Given the description of an element on the screen output the (x, y) to click on. 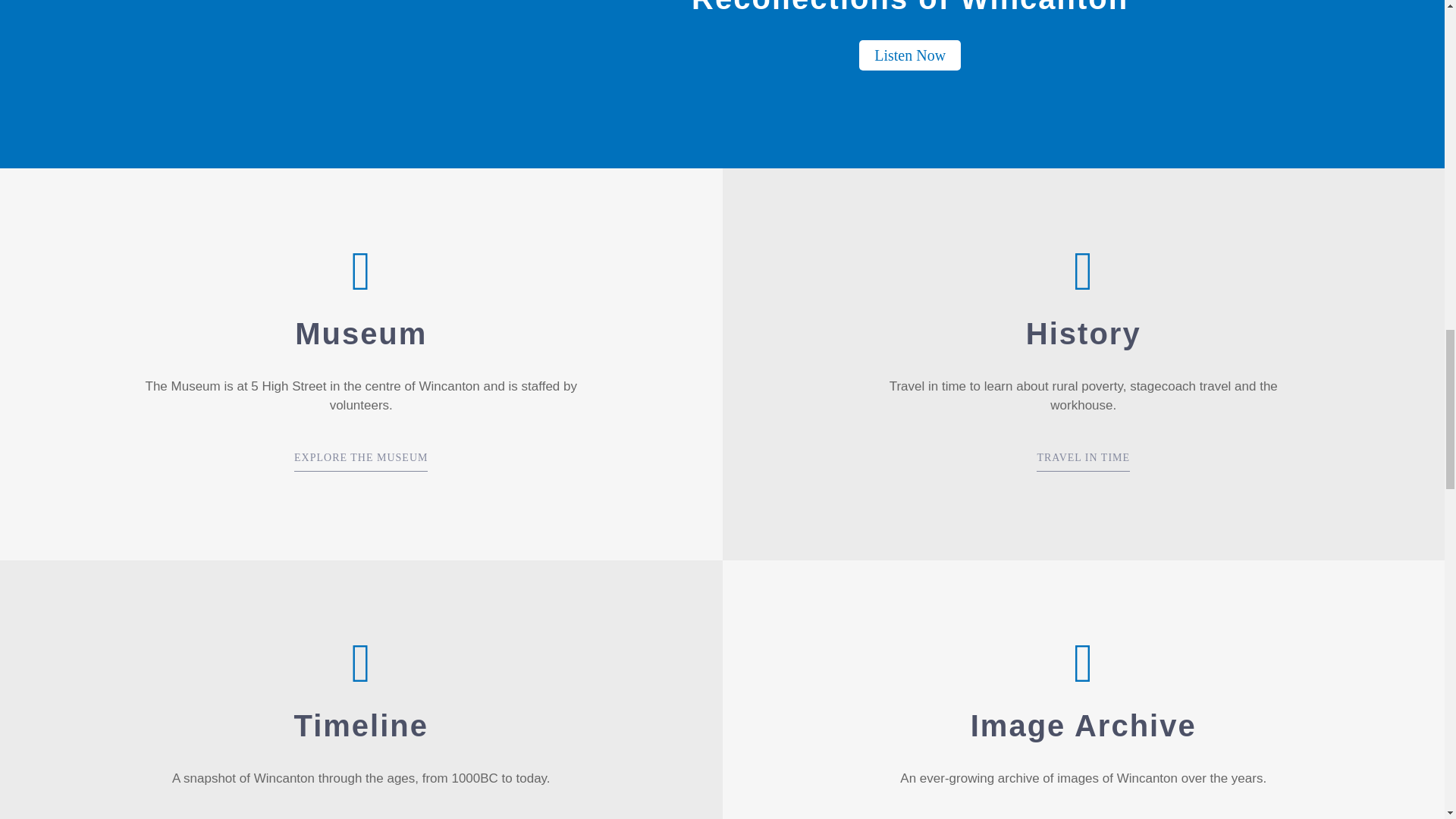
TRAVEL IN TIME (1082, 461)
Listen Now (909, 55)
EXPLORE THE MUSEUM (361, 461)
Mircophone (158, 84)
